Given the description of an element on the screen output the (x, y) to click on. 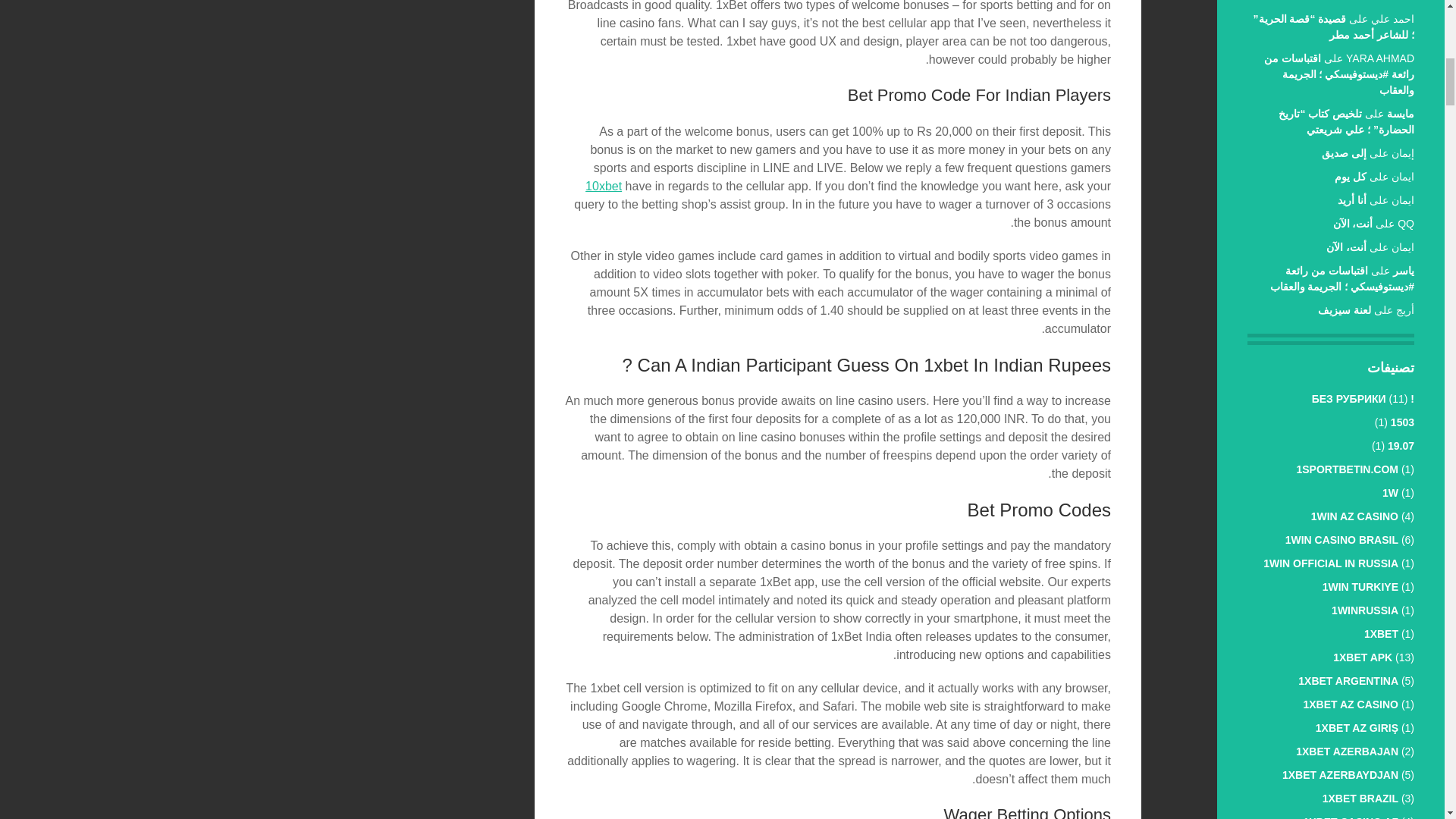
1WIN AZ CASINO (1354, 516)
1SPORTBETIN.COM (1346, 469)
1WIN CASINO BRASIL (1341, 539)
1XBET APK (1362, 657)
1WIN TURKIYE (1359, 586)
1WINRUSSIA (1364, 610)
1503 (1401, 422)
1XBET (1380, 633)
1XBET ARGENTINA (1347, 680)
1W (1389, 492)
19.07 (1400, 445)
1WIN OFFICIAL IN RUSSIA (1330, 563)
